Given the description of an element on the screen output the (x, y) to click on. 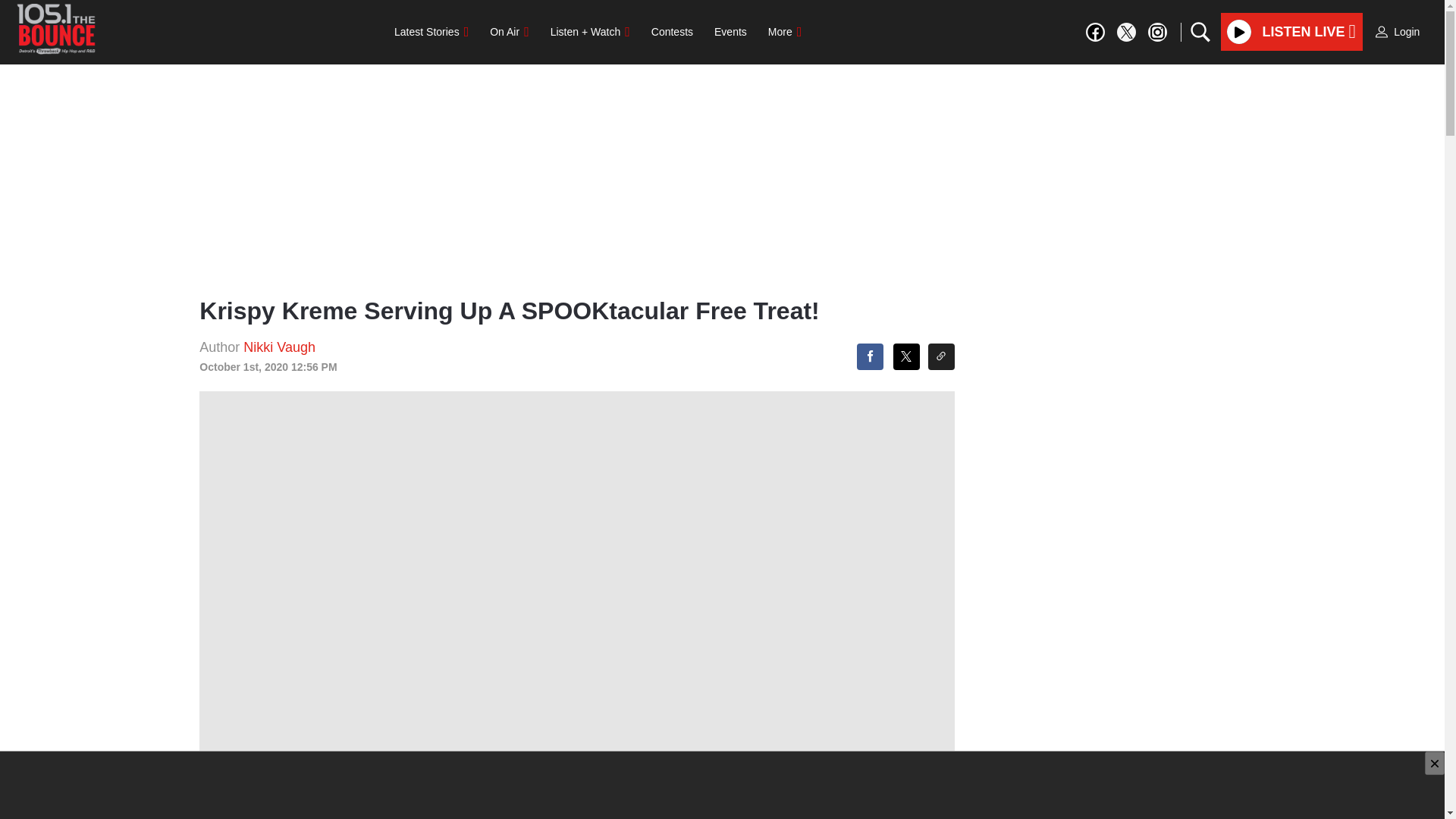
On Air (508, 31)
Latest Stories (431, 31)
Nikki Vaugh (279, 346)
More (784, 31)
Close AdCheckmark indicating ad close (1434, 763)
Contests (671, 31)
Events (730, 31)
